Given the description of an element on the screen output the (x, y) to click on. 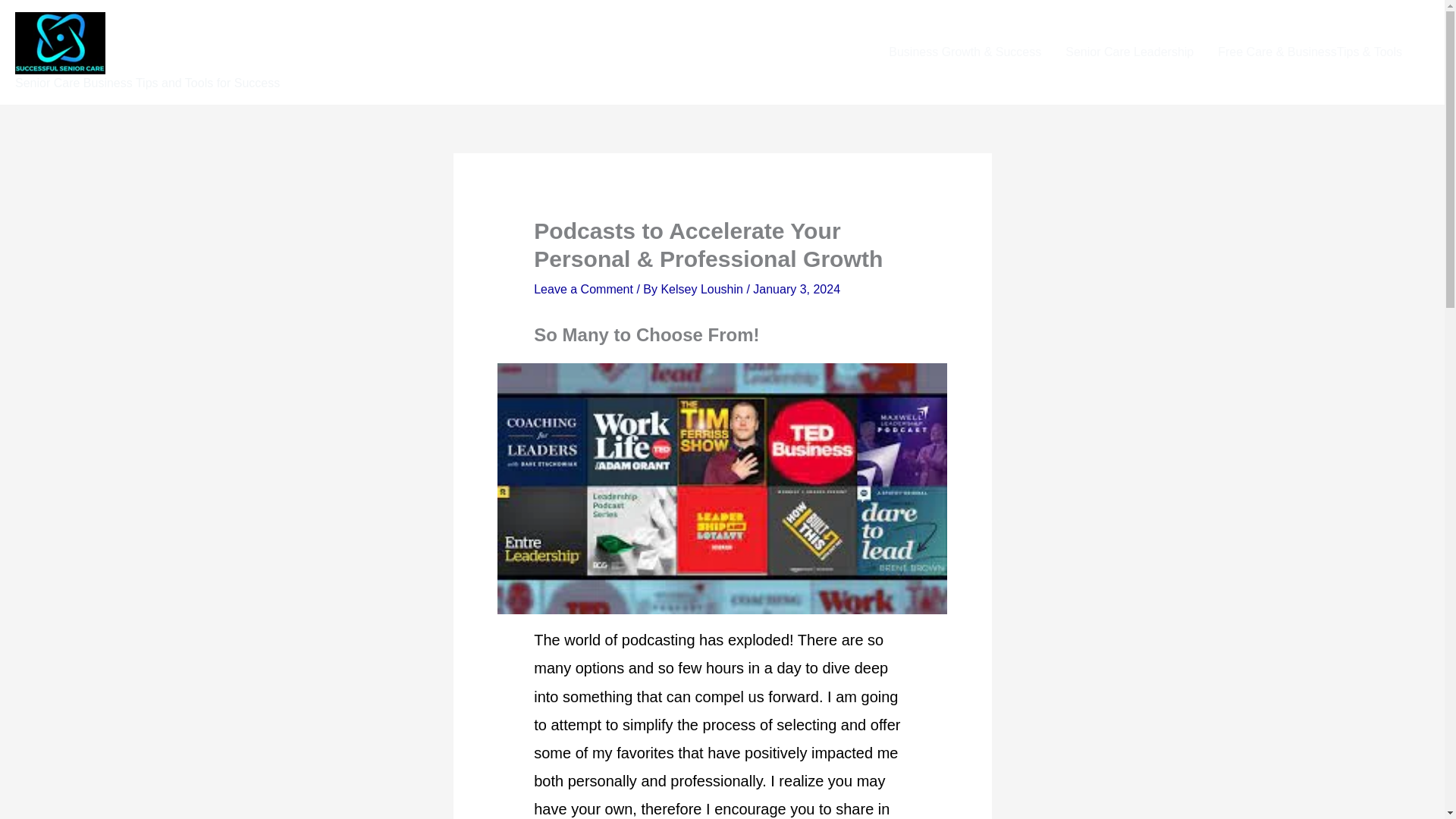
View all posts by Kelsey Loushin (703, 288)
Senior Care Leadership (1128, 52)
Leave a Comment (583, 288)
Kelsey Loushin (703, 288)
